Given the description of an element on the screen output the (x, y) to click on. 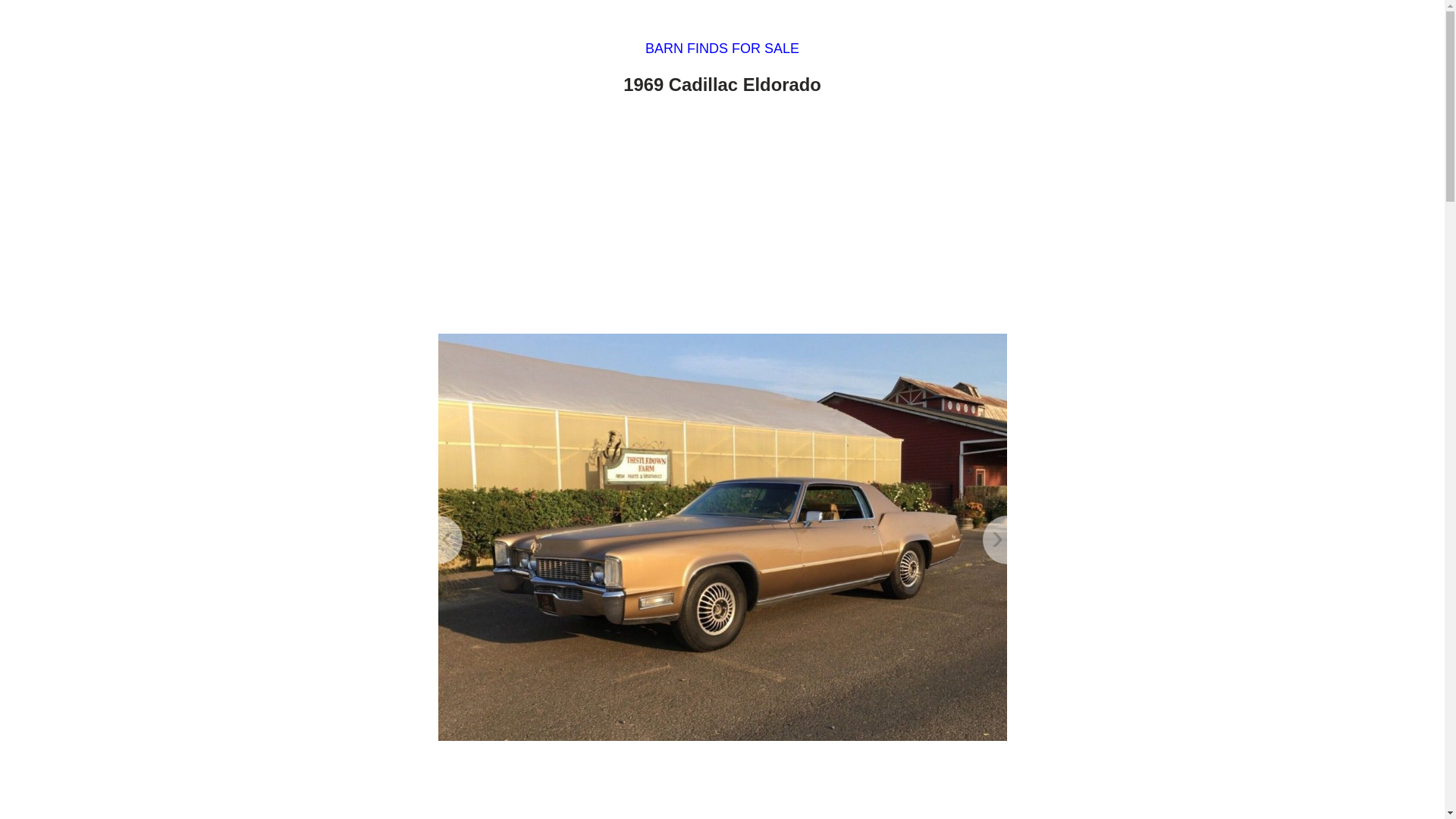
Advertisement (722, 218)
BARN FINDS FOR SALE (722, 48)
Advertisement (722, 785)
